Given the description of an element on the screen output the (x, y) to click on. 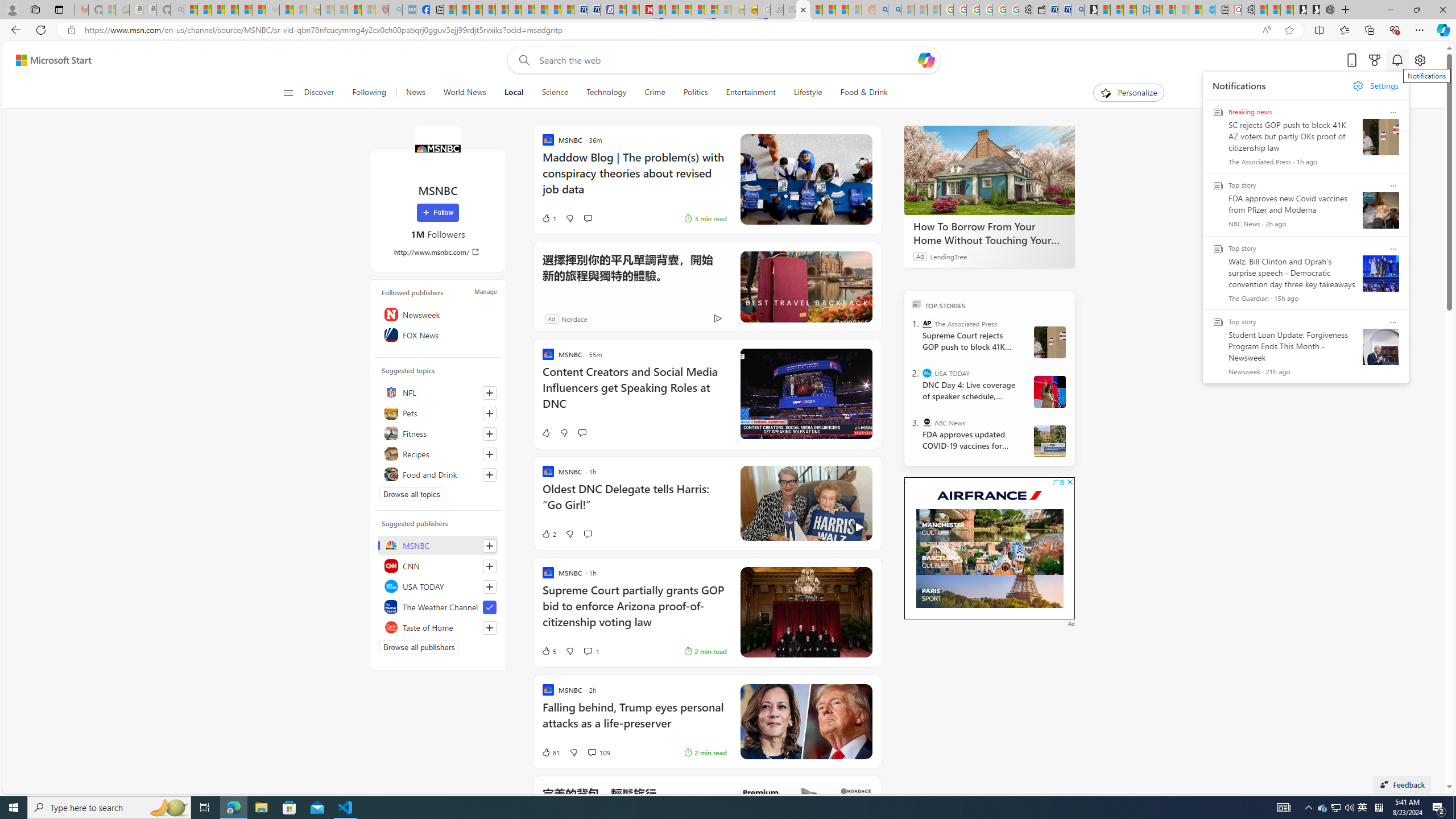
NFL (437, 392)
Navy Quest (776, 9)
USA TODAY (927, 372)
Follow (437, 212)
Enter your search term (726, 59)
Entertainment (750, 92)
